Given the description of an element on the screen output the (x, y) to click on. 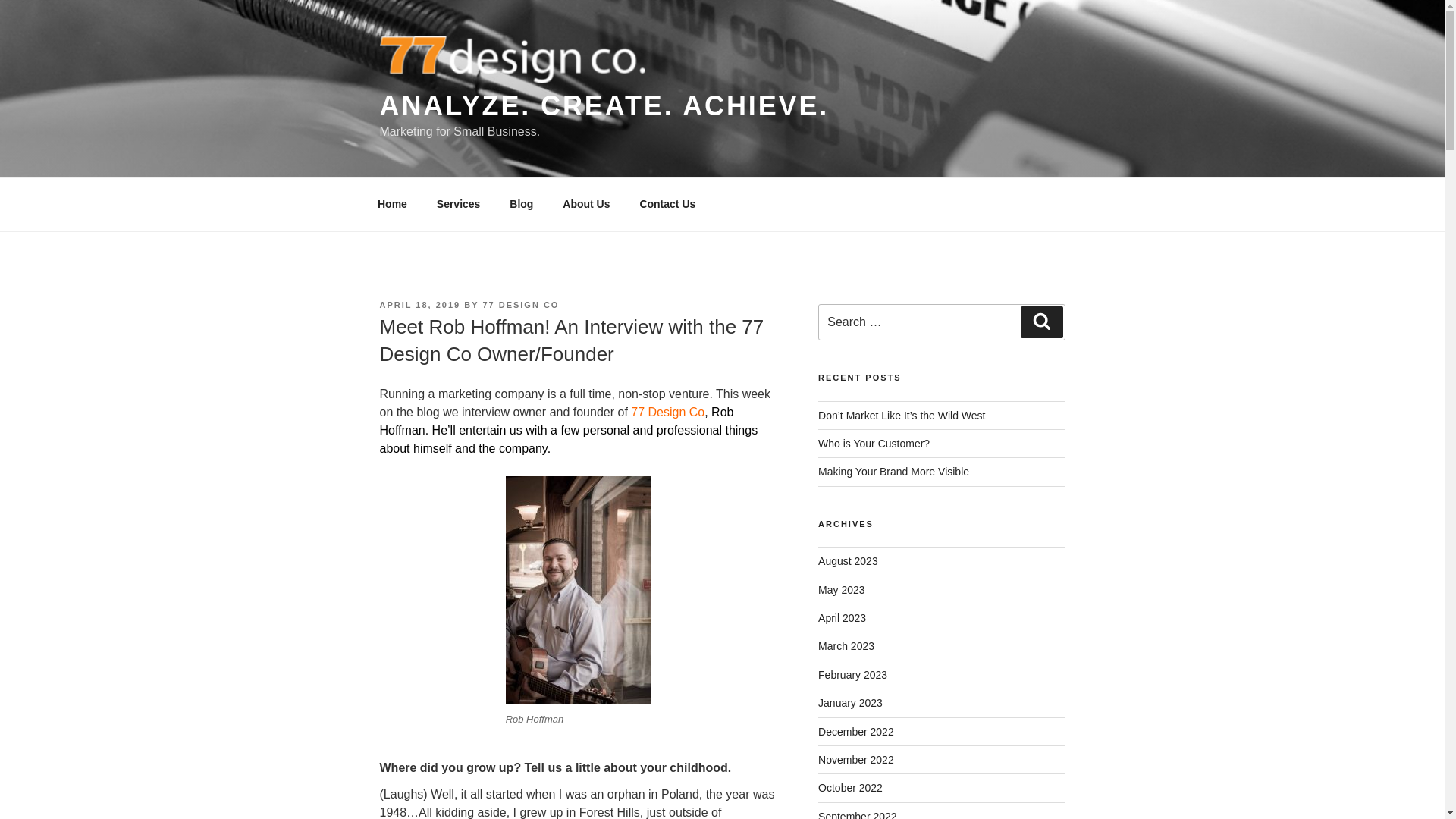
Contact Us (667, 203)
Home (392, 203)
Services (458, 203)
Blog (521, 203)
APRIL 18, 2019 (419, 304)
About Us (586, 203)
ANALYZE. CREATE. ACHIEVE. (603, 105)
77 DESIGN CO (520, 304)
